Given the description of an element on the screen output the (x, y) to click on. 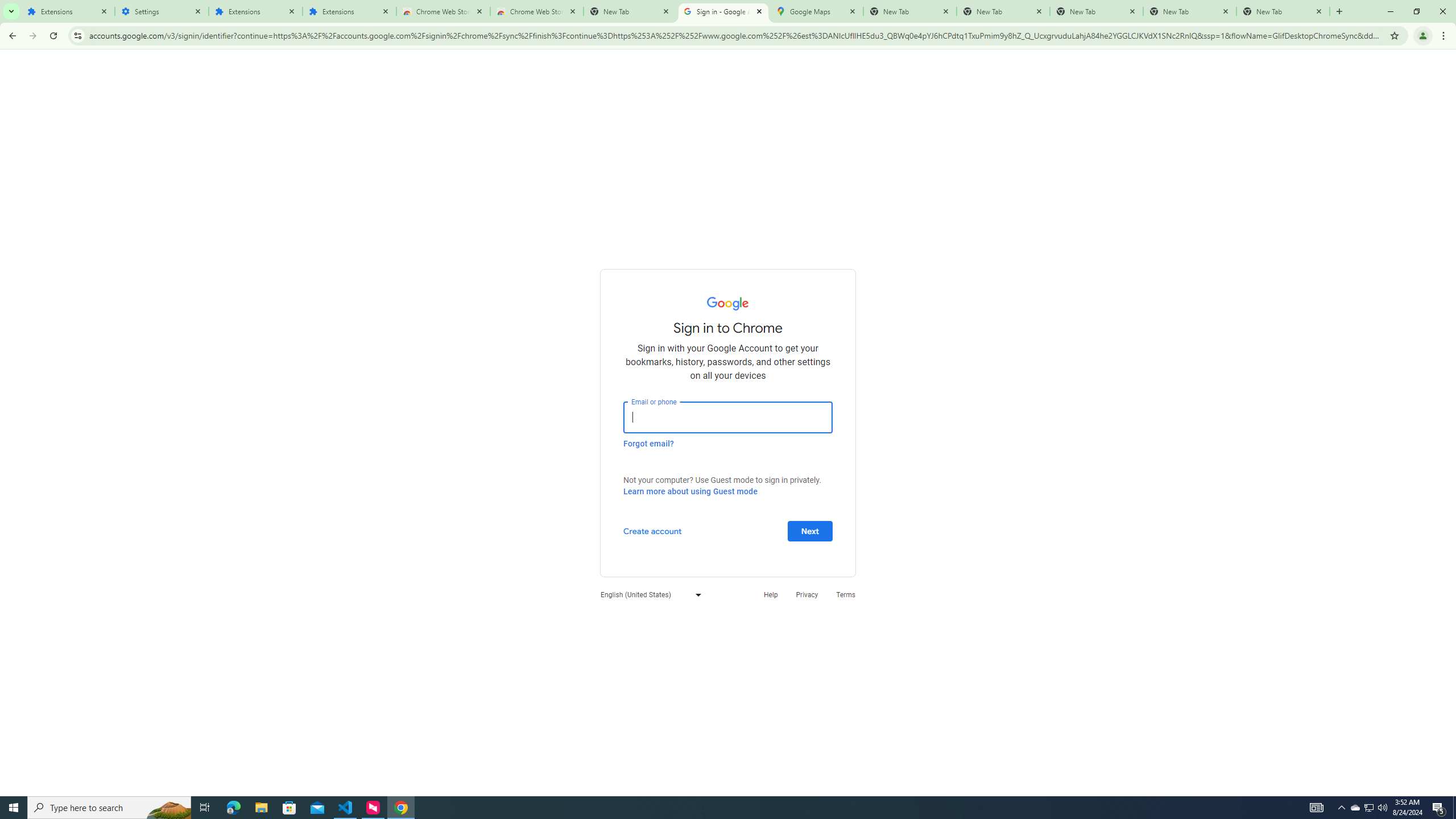
Create account (651, 530)
Chrome Web Store - Themes (536, 11)
Extensions (255, 11)
Learn more about using Guest mode (689, 491)
New Tab (1283, 11)
